Given the description of an element on the screen output the (x, y) to click on. 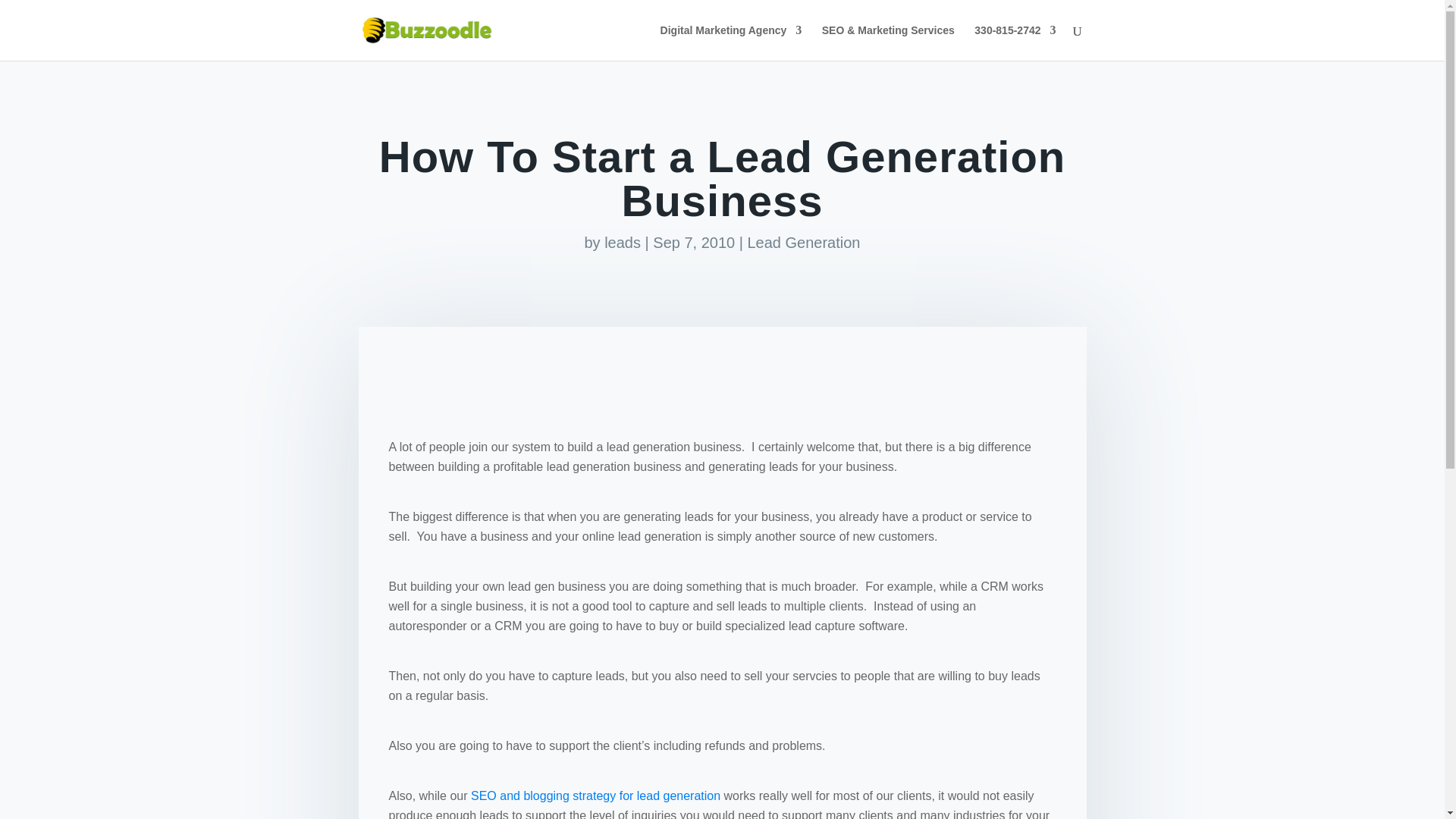
SEO and blogging strategy for lead generation (595, 795)
Lead Generation (803, 242)
Posts by leads (622, 242)
leads (622, 242)
330-815-2742 (1014, 42)
Digital Marketing Agency (731, 42)
